Given the description of an element on the screen output the (x, y) to click on. 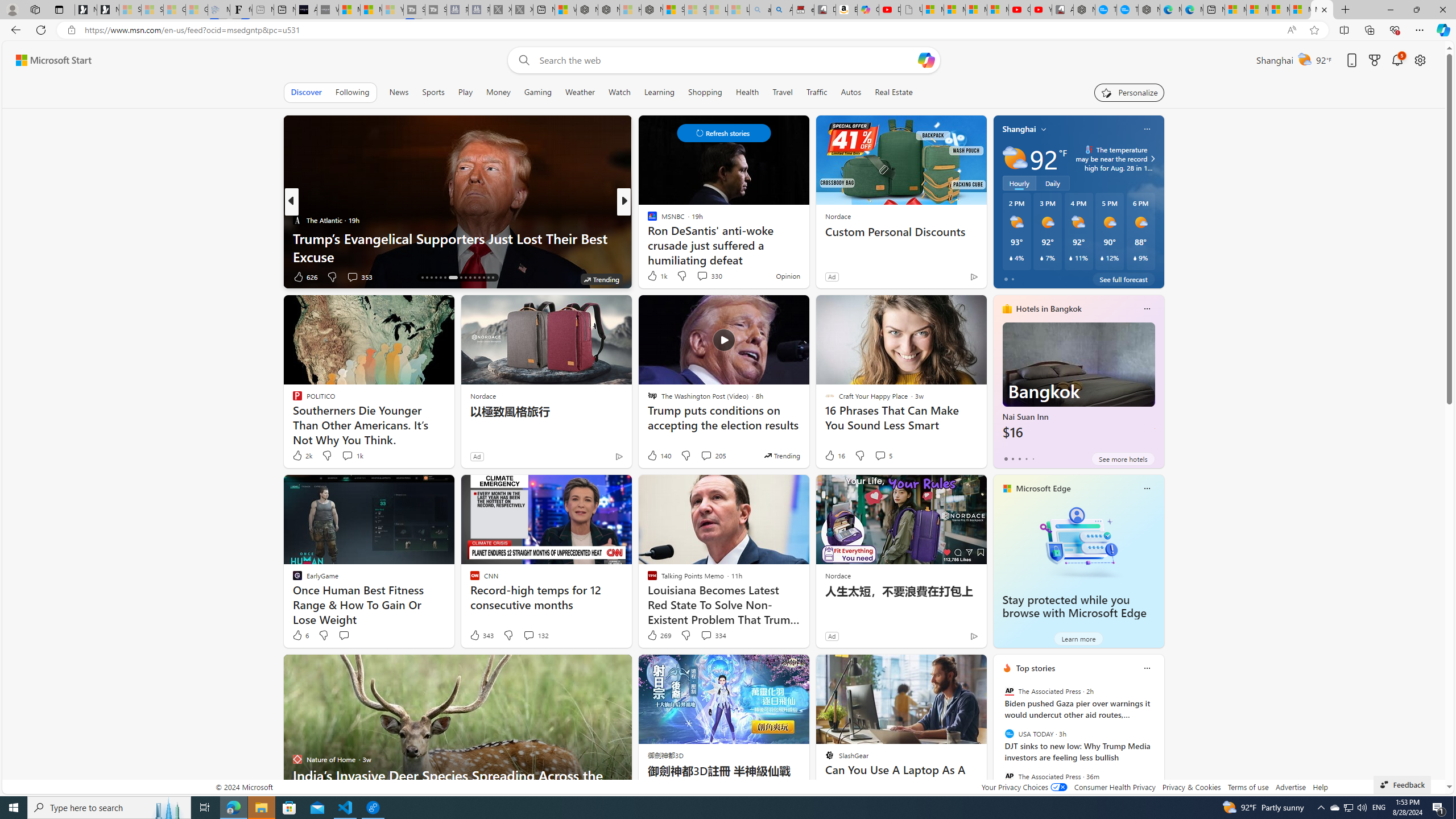
The Associated Press (1008, 775)
Discover (306, 92)
tab-1 (1012, 458)
Stacker (647, 219)
Weather (580, 92)
Skip to footer (46, 59)
Class: weather-arrow-glyph (1152, 158)
View comments 132 Comment (535, 634)
Copilot (868, 9)
Weather (579, 92)
Nai Suan Inn (1077, 385)
YouTube Kids - An App Created for Kids to Explore Content (1041, 9)
2k Like (301, 455)
